Given the description of an element on the screen output the (x, y) to click on. 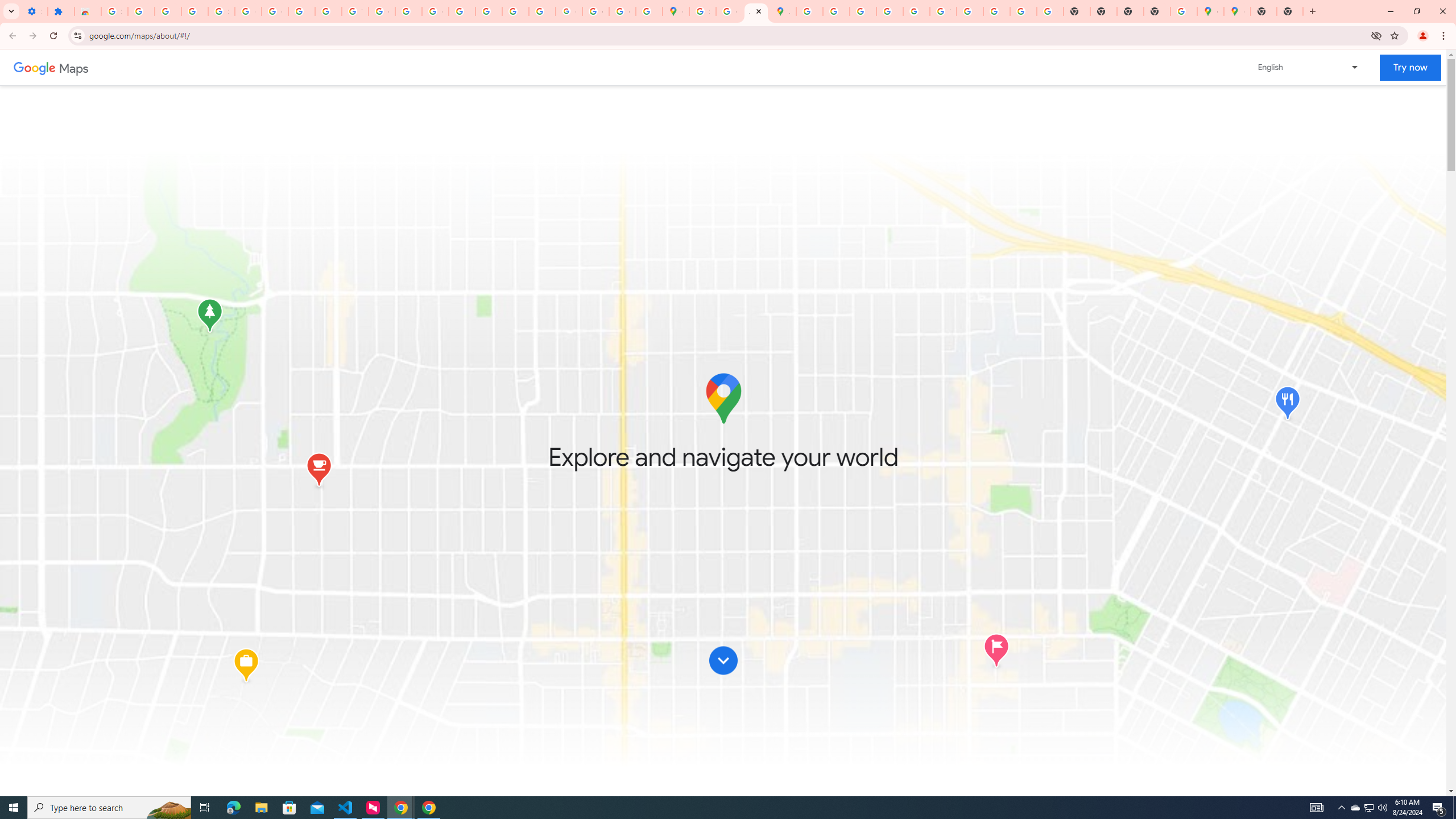
Privacy Help Center - Policies Help (862, 11)
YouTube (943, 11)
Use Google Maps in Space - Google Maps Help (1183, 11)
Privacy Help Center - Policies Help (836, 11)
Change language or region (1308, 66)
New Tab (1262, 11)
